Given the description of an element on the screen output the (x, y) to click on. 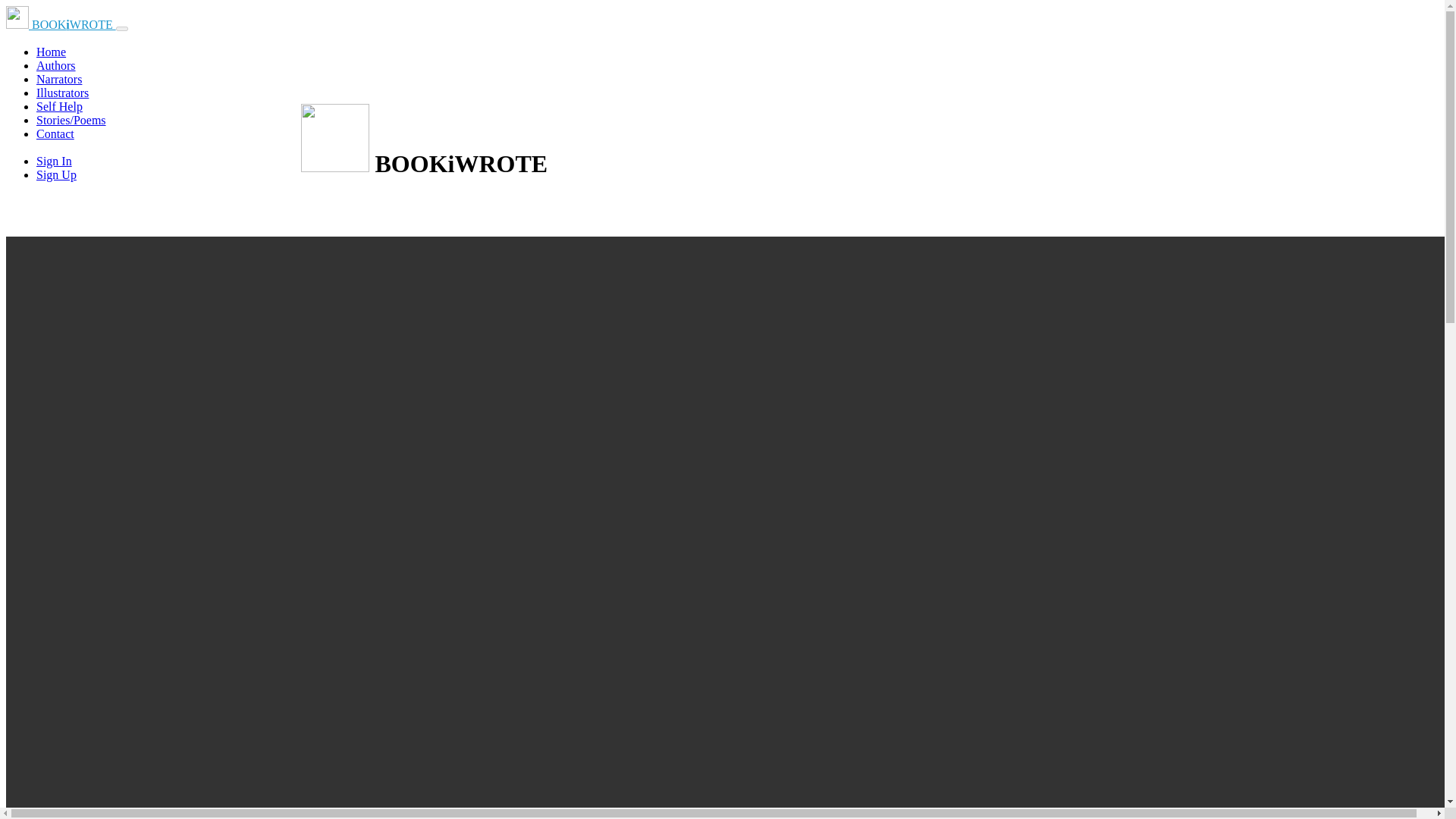
Self Help (59, 106)
Narrators (58, 78)
Contact (55, 133)
Home (50, 51)
Illustrators (62, 92)
Sign Up (56, 174)
Authors (55, 65)
BOOKiWROTE (60, 24)
Sign In (53, 160)
